Given the description of an element on the screen output the (x, y) to click on. 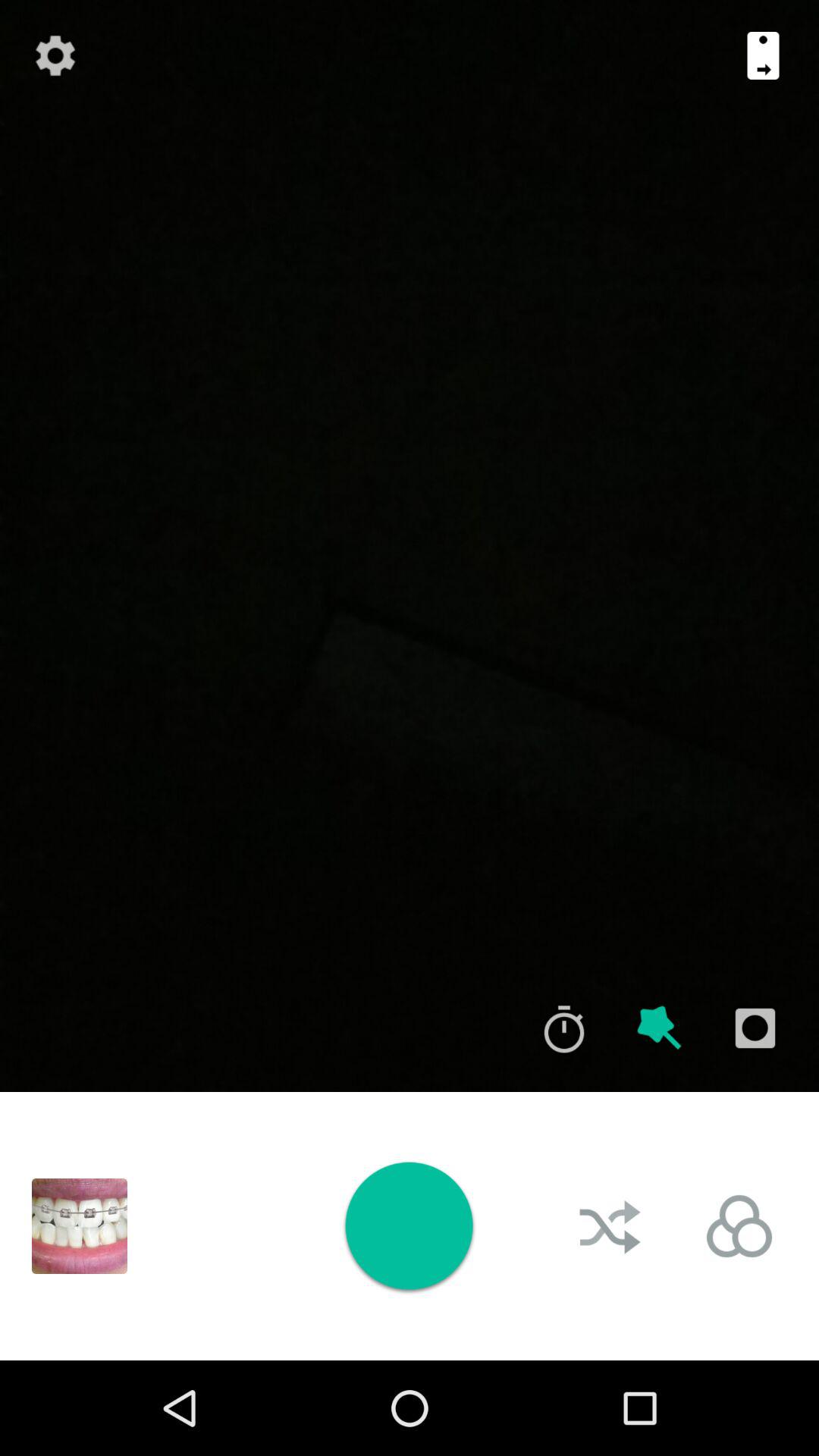
go to black (79, 1226)
